Given the description of an element on the screen output the (x, y) to click on. 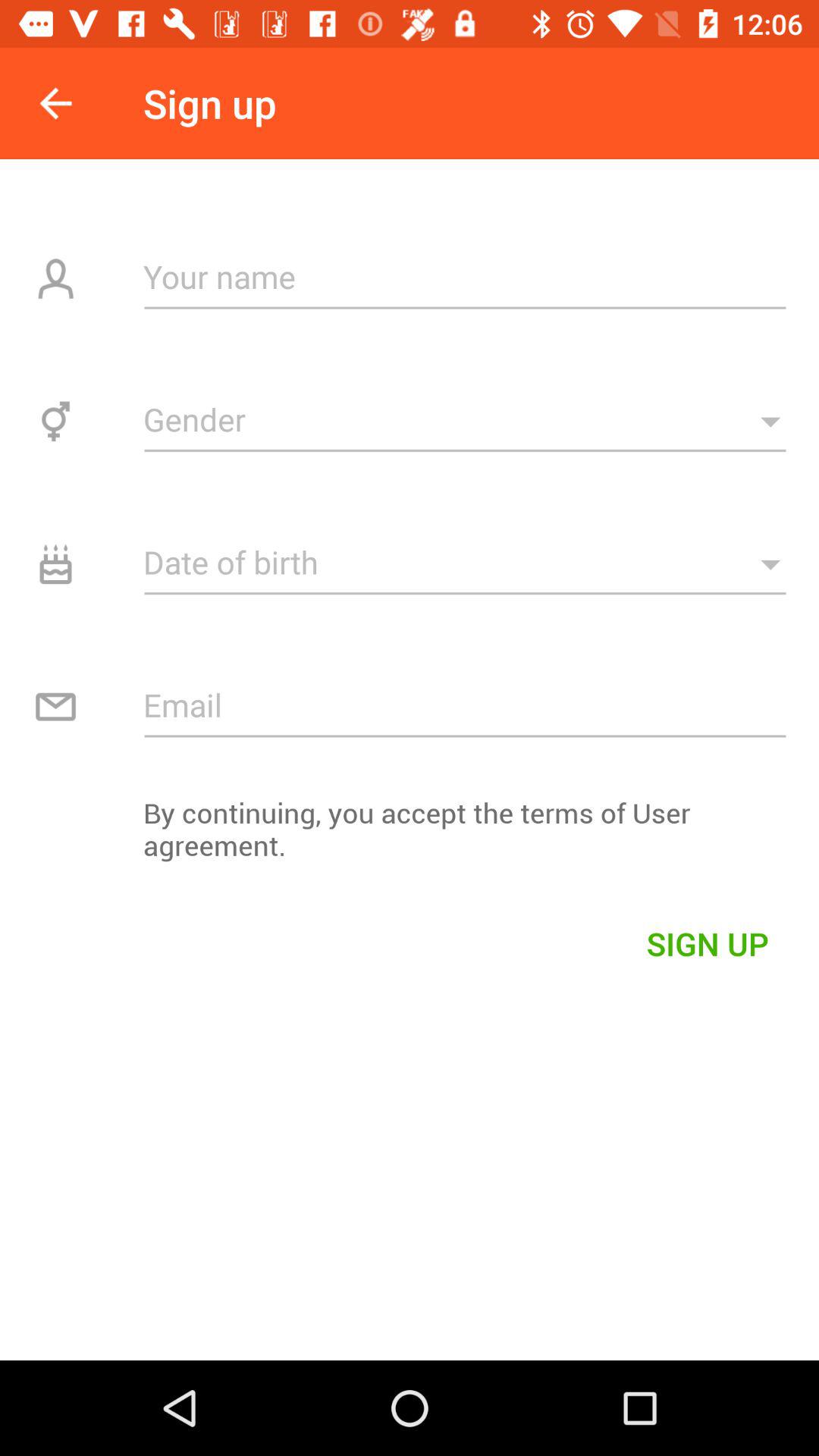
click to enter name (465, 276)
